Given the description of an element on the screen output the (x, y) to click on. 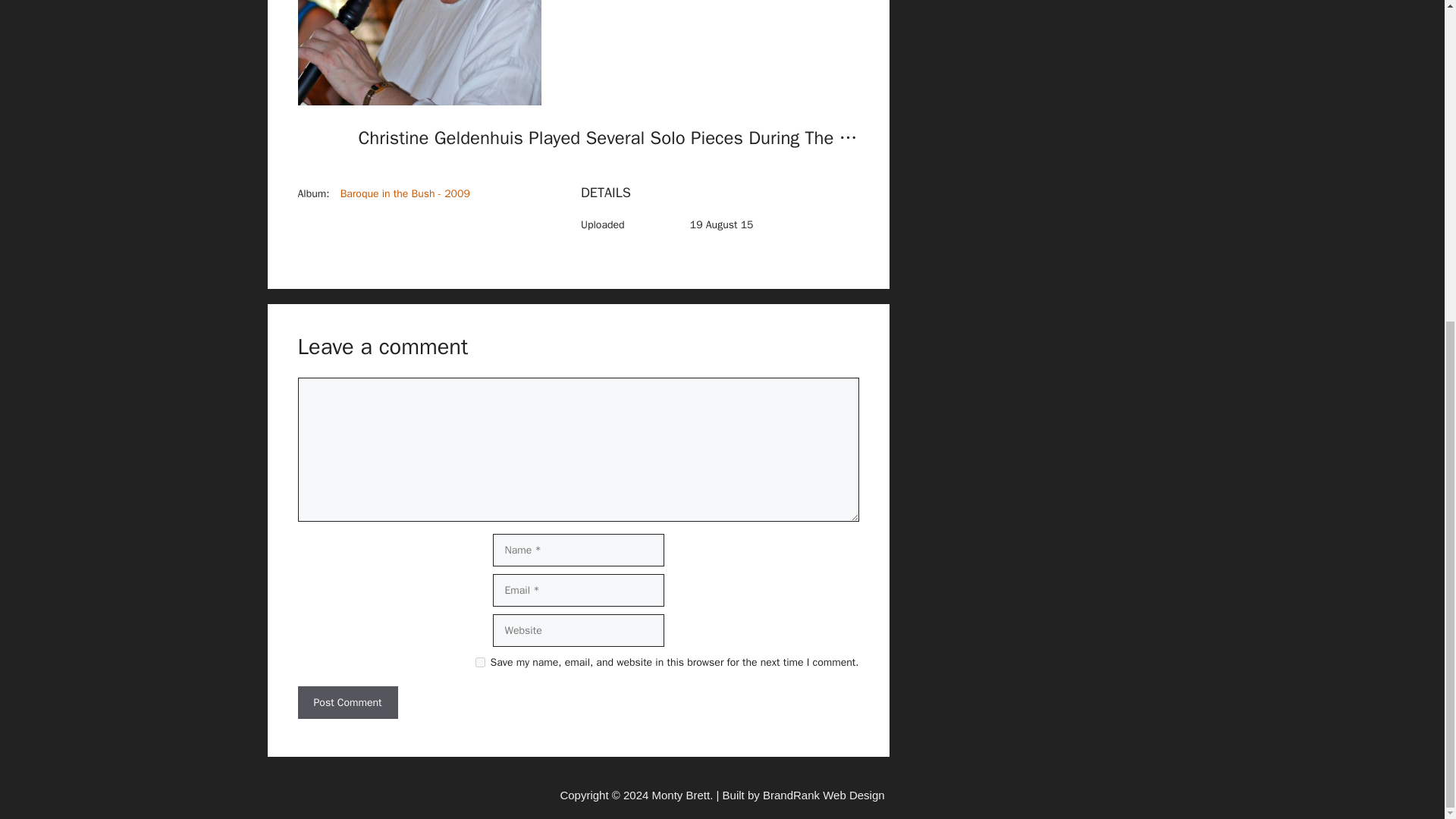
Post Comment (347, 702)
Post Comment (347, 702)
Baroque in the Bush - 2009 (405, 193)
yes (480, 662)
BrandRank Web Design (823, 794)
